Given the description of an element on the screen output the (x, y) to click on. 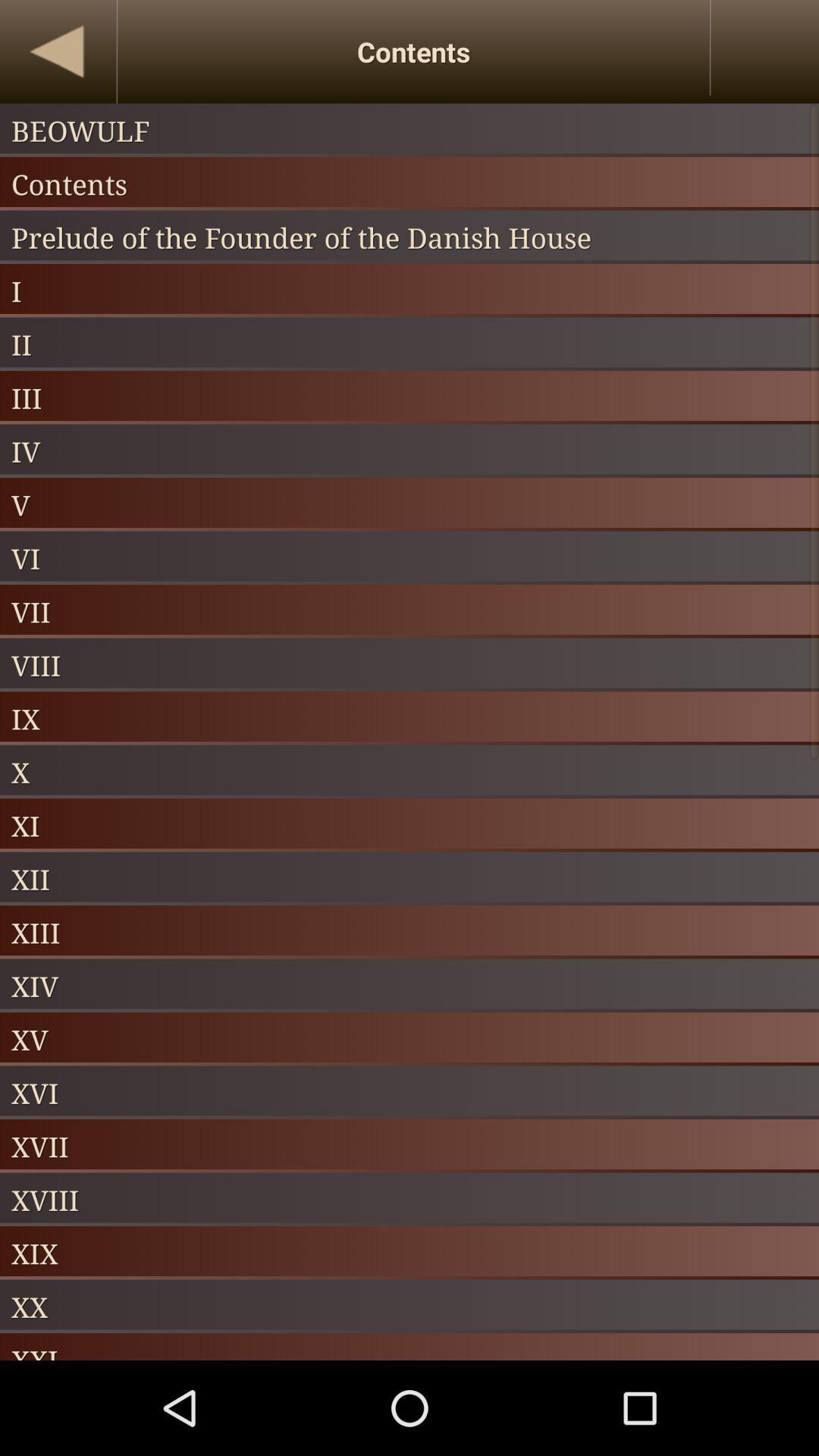
open the app below the xv (409, 1092)
